Given the description of an element on the screen output the (x, y) to click on. 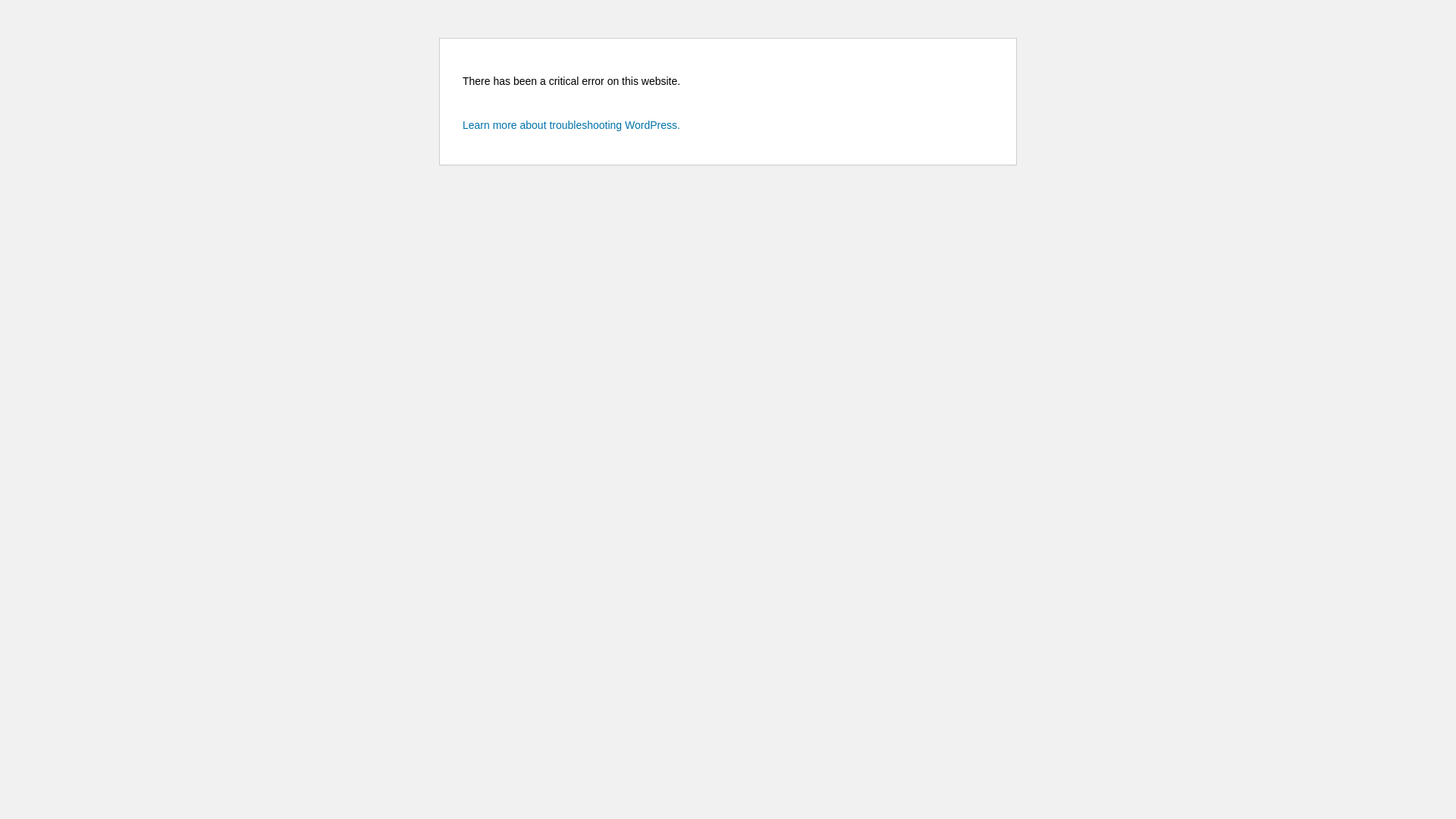
Learn more about troubleshooting WordPress. Element type: text (571, 125)
